Given the description of an element on the screen output the (x, y) to click on. 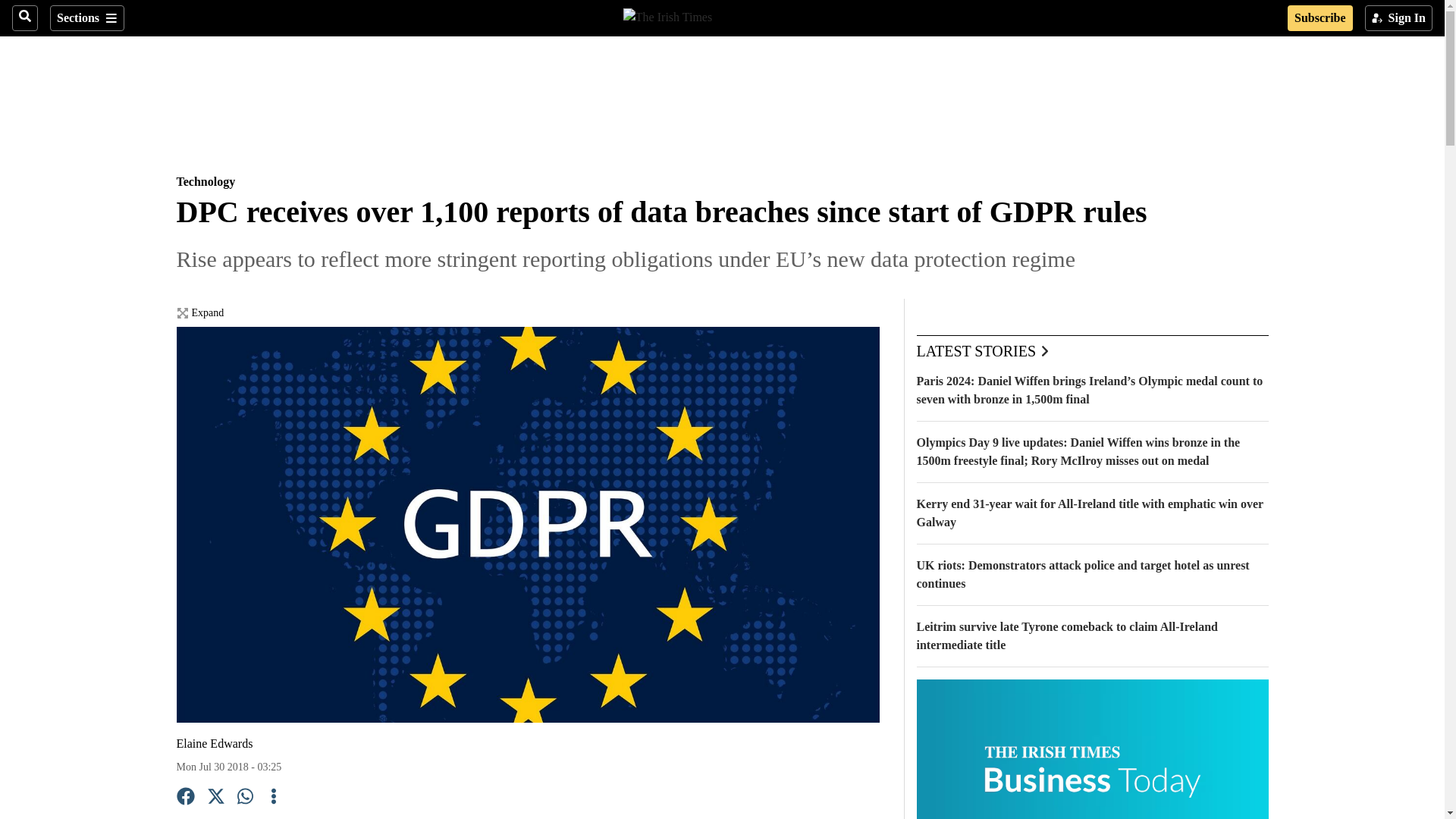
Sign In (1398, 17)
Subscribe (1319, 17)
The Irish Times (667, 15)
Sections (86, 17)
